Given the description of an element on the screen output the (x, y) to click on. 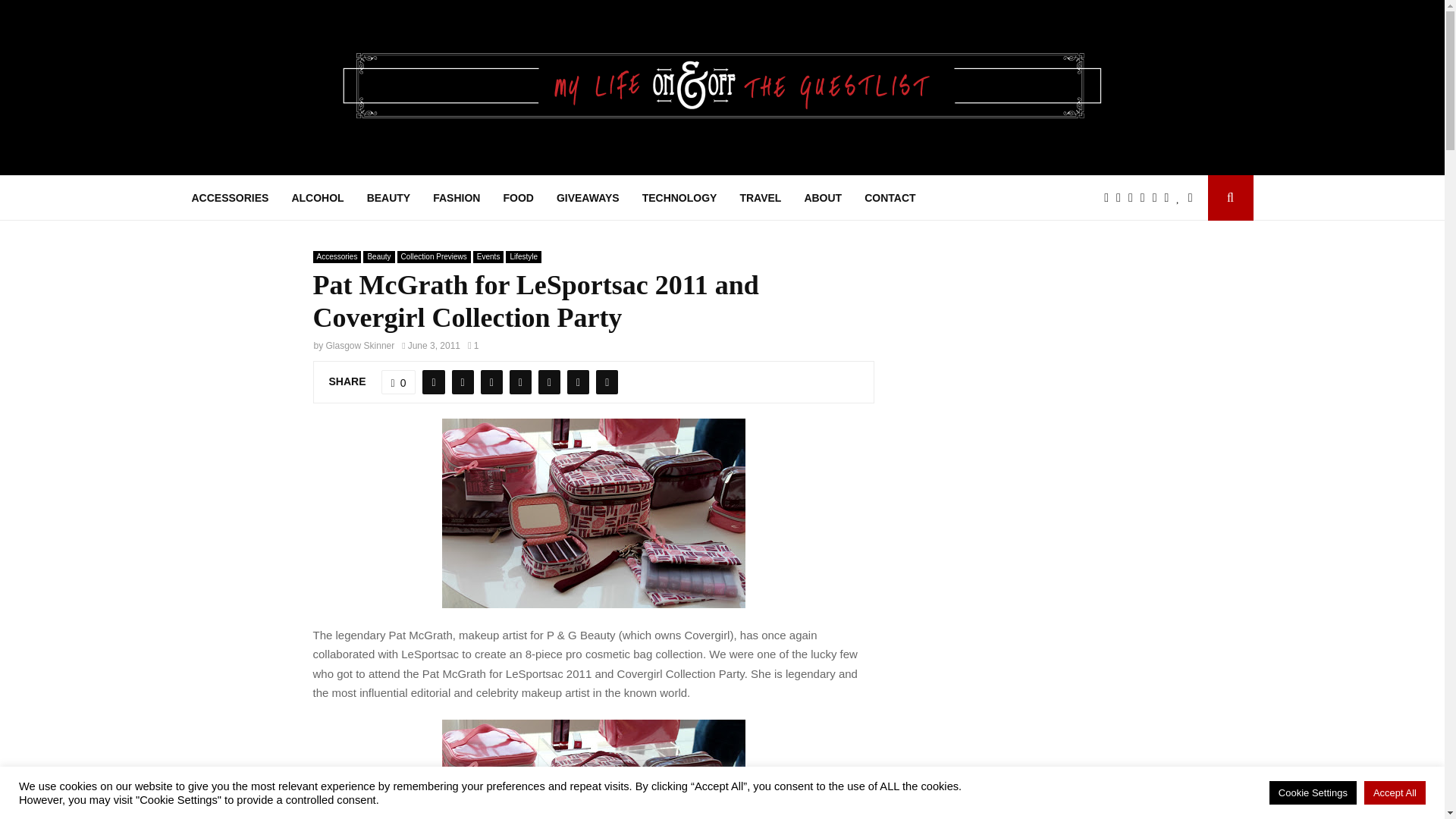
1 (473, 345)
Lifestyle (523, 256)
TECHNOLOGY (679, 197)
ALCOHOL (317, 197)
GIVEAWAYS (588, 197)
Like (398, 381)
Glasgow Skinner (360, 345)
Collection Previews (433, 256)
Events (488, 256)
TRAVEL (759, 197)
ACCESSORIES (228, 197)
CONTACT (889, 197)
BEAUTY (388, 197)
FASHION (456, 197)
Beauty (378, 256)
